Given the description of an element on the screen output the (x, y) to click on. 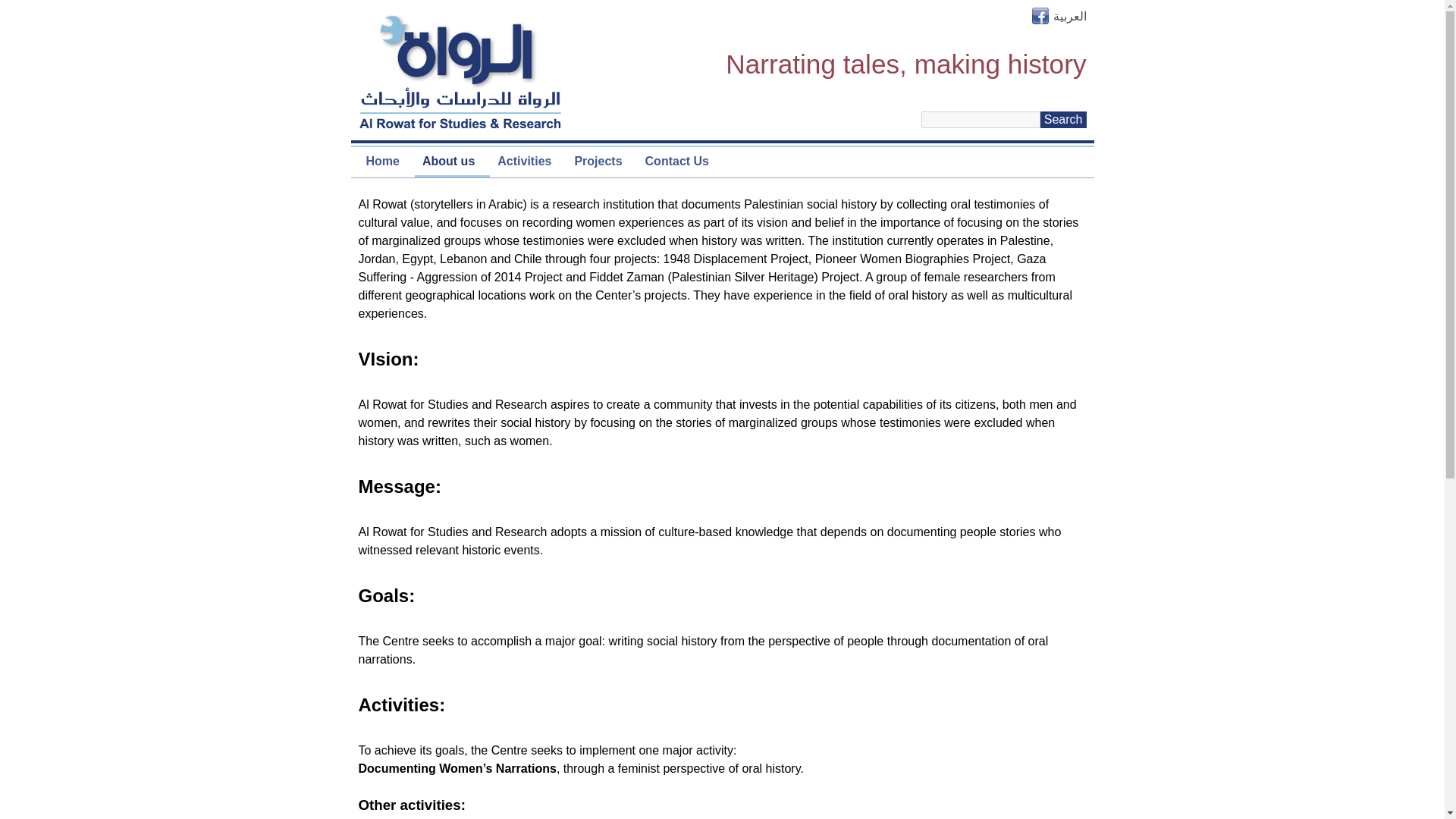
Projects (597, 161)
Search (1063, 119)
Enter the terms you wish to search for. (981, 119)
Home (459, 71)
Search (1063, 119)
Home (382, 161)
About us (447, 161)
Visit alrowat on Facebook (1039, 19)
Activities (524, 161)
Contact Us (676, 161)
